Given the description of an element on the screen output the (x, y) to click on. 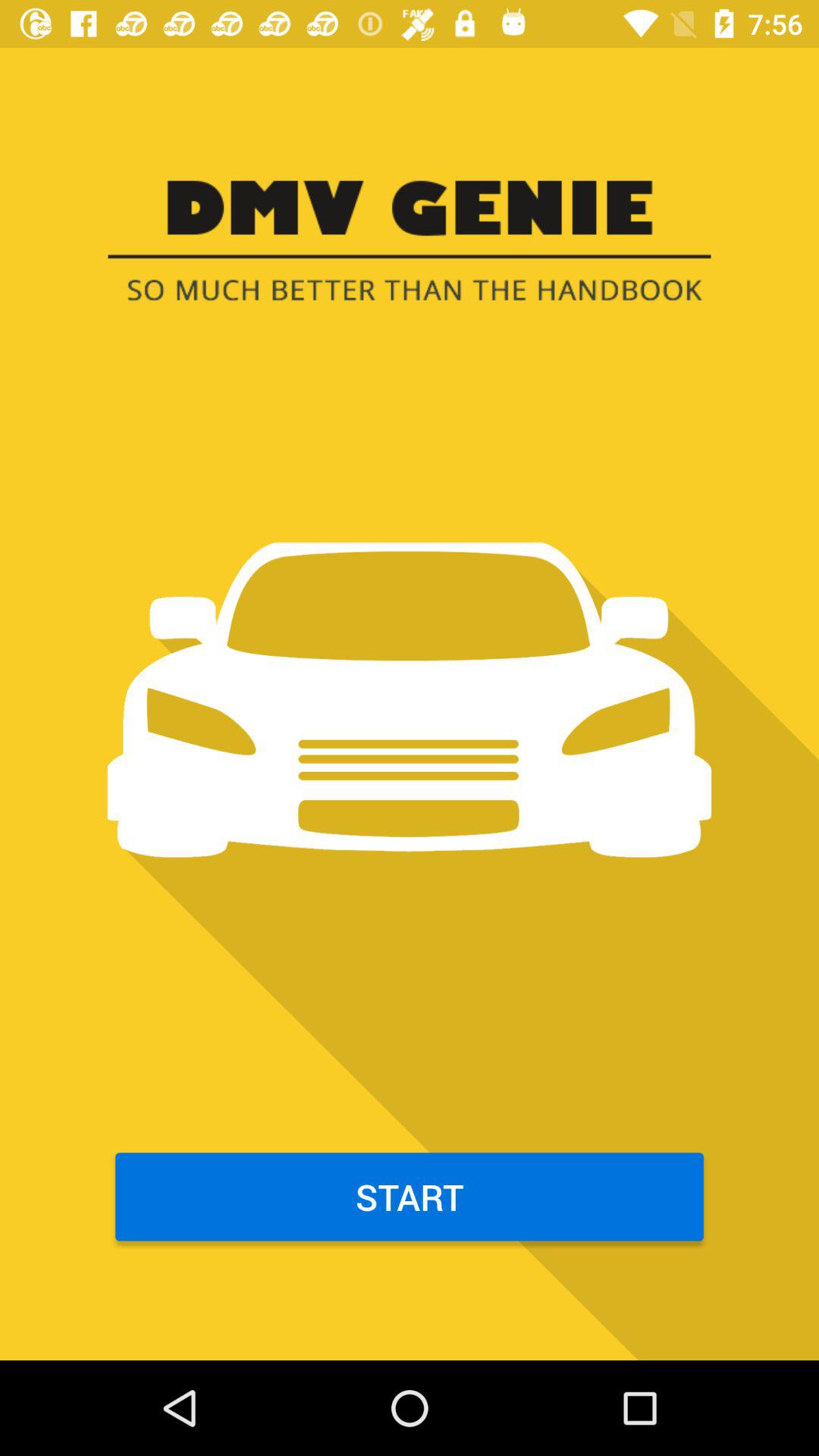
open the start item (409, 1196)
